Given the description of an element on the screen output the (x, y) to click on. 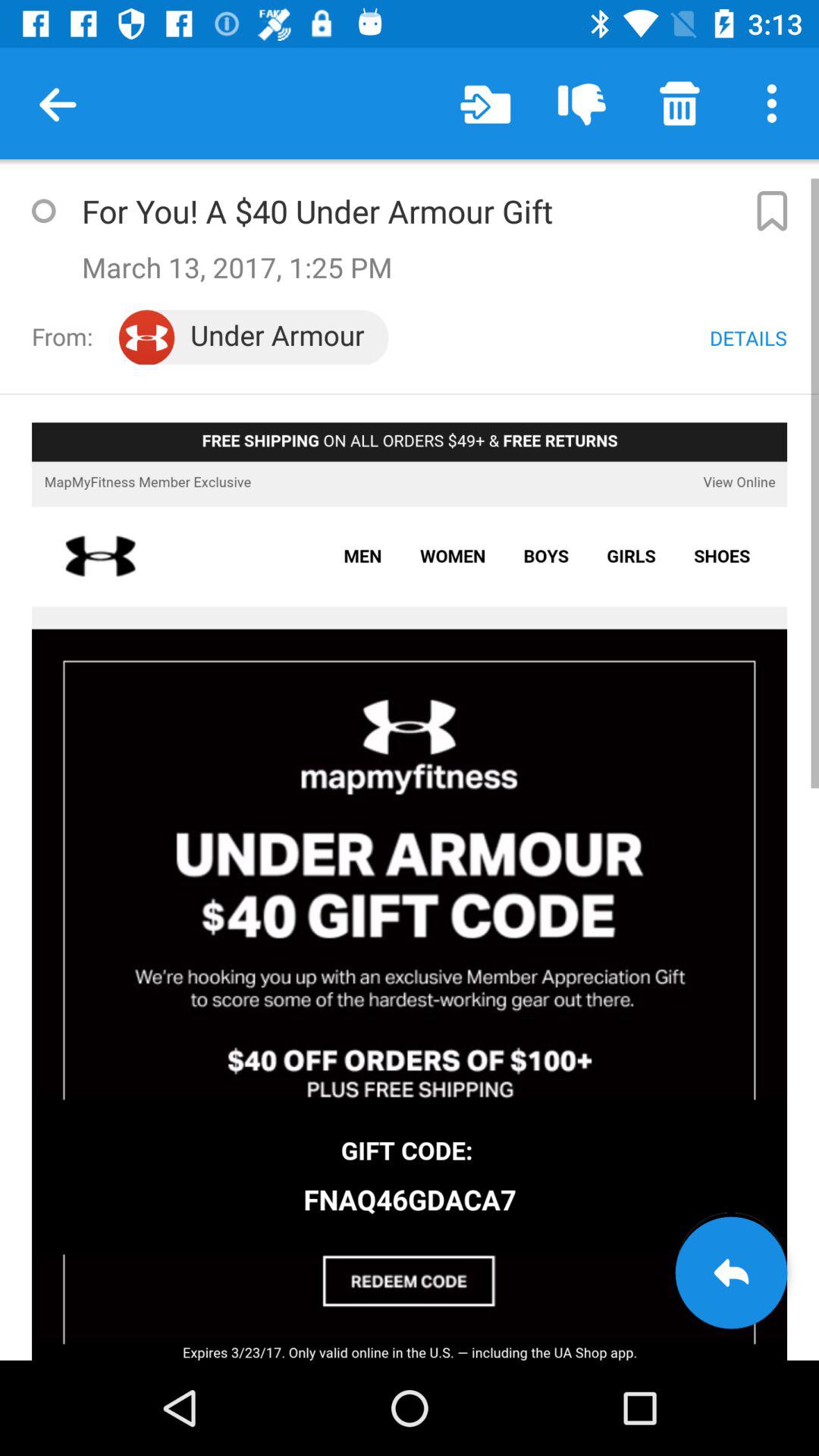
send button (731, 1272)
